Given the description of an element on the screen output the (x, y) to click on. 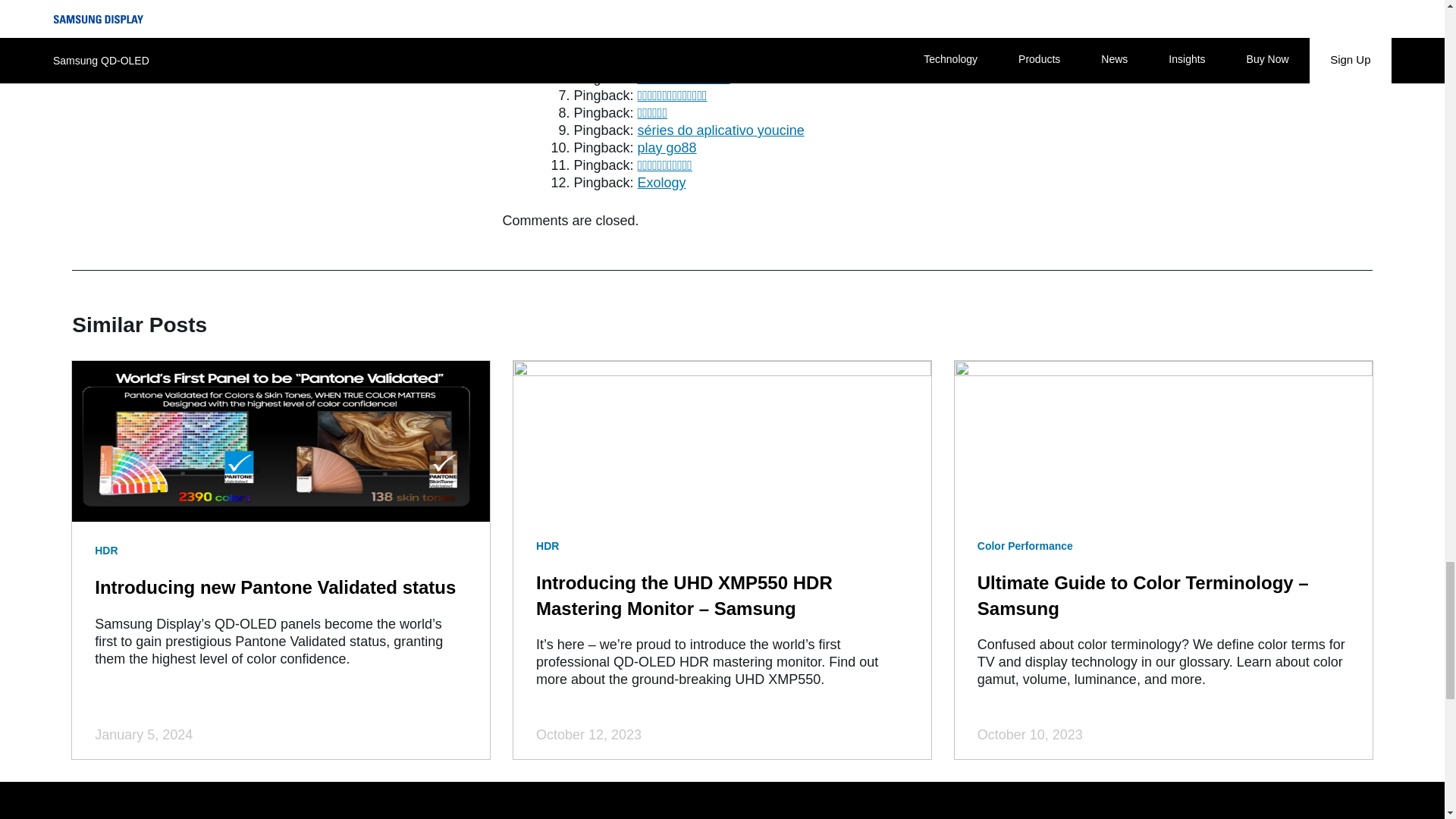
Color Performance (1024, 546)
Introducing new Pantone Validated status (274, 587)
Exology (661, 182)
Fun Cup (663, 7)
play go88 (667, 147)
HDR (547, 546)
real australian drivers license (725, 25)
HDR (105, 550)
